Given the description of an element on the screen output the (x, y) to click on. 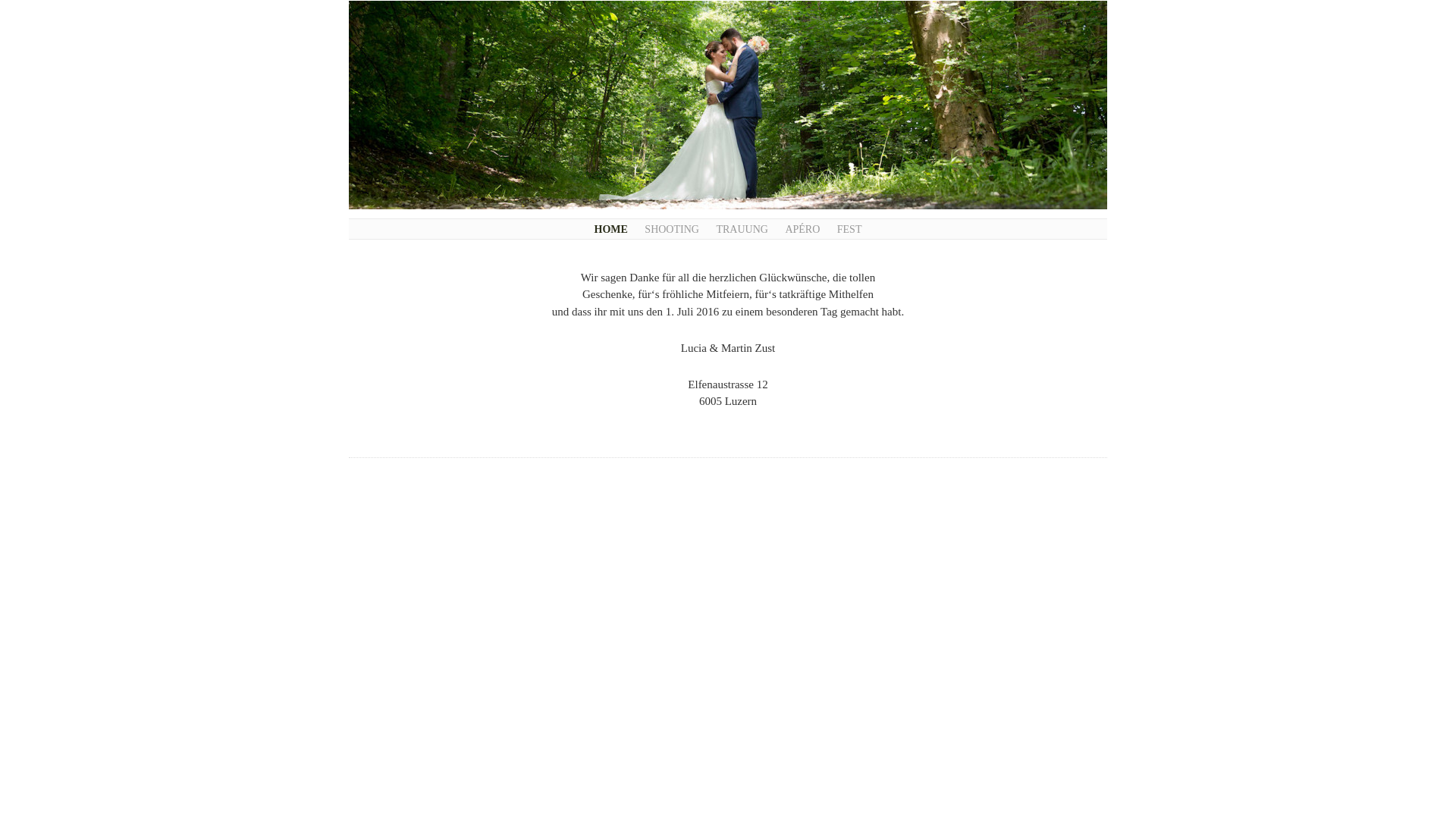
FEST Element type: text (849, 229)
SHOOTING Element type: text (671, 229)
Home Element type: hover (727, 206)
HOME Element type: text (610, 229)
TRAUUNG Element type: text (741, 229)
